Given the description of an element on the screen output the (x, y) to click on. 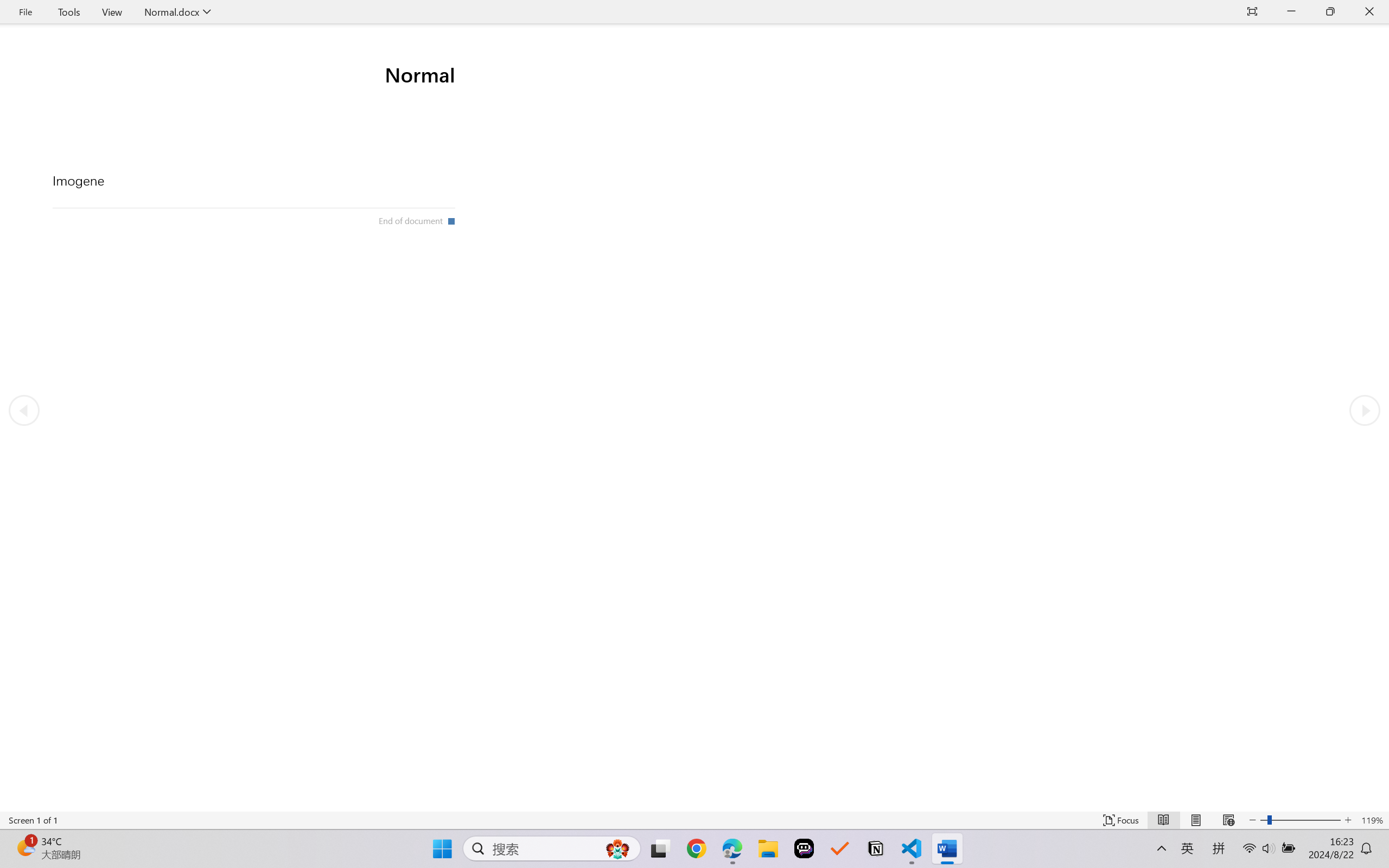
Decrease Text Size (1252, 819)
Class: NetUIScrollBar (694, 803)
Page Number Screen 1 of 1  (32, 819)
Text Size (1300, 819)
